Given the description of an element on the screen output the (x, y) to click on. 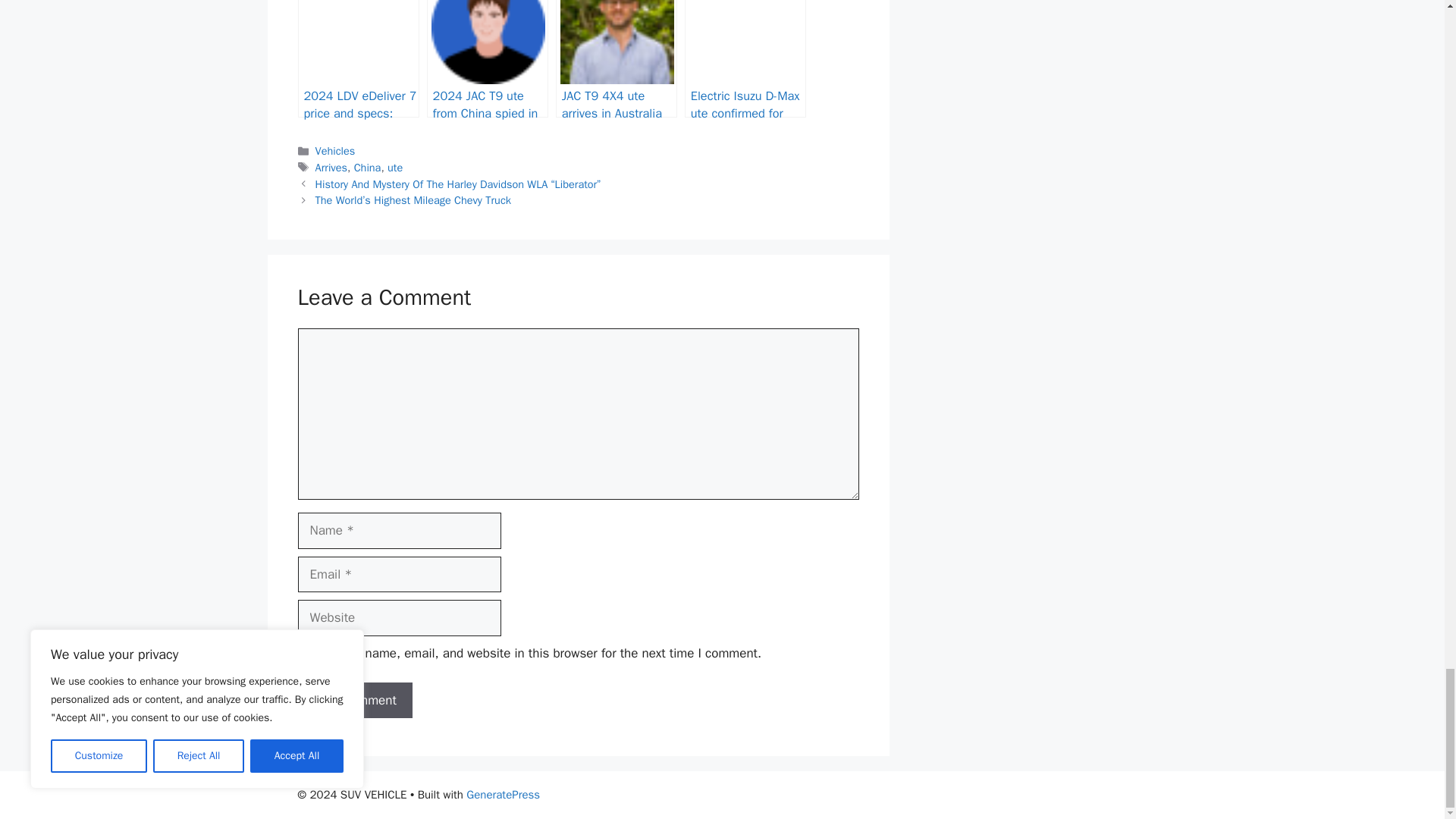
Post Comment (354, 700)
Electric Isuzu D-Max ute confirmed for Australia (745, 58)
yes (302, 653)
